Given the description of an element on the screen output the (x, y) to click on. 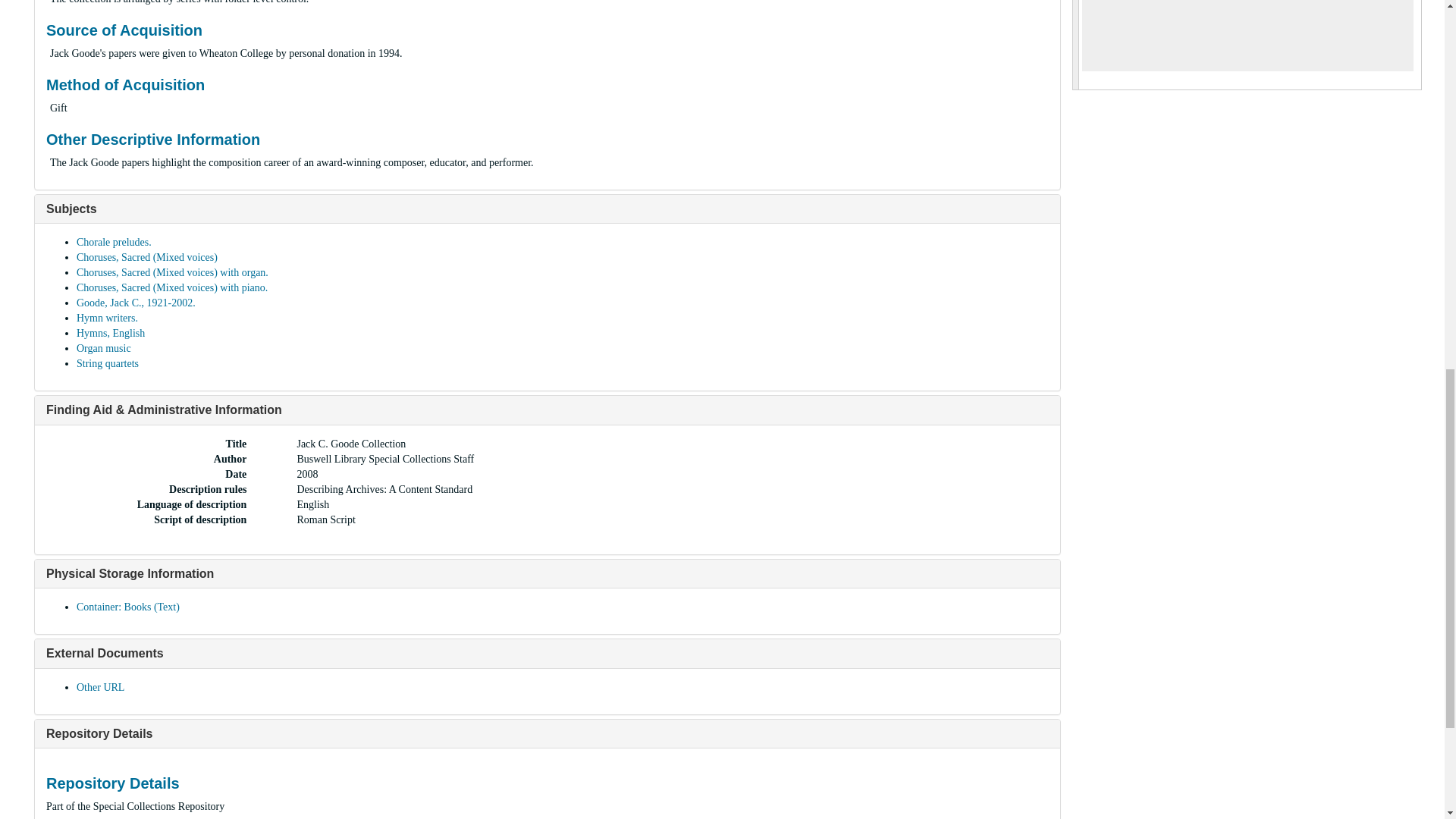
Subjects (71, 208)
Hymn writers. (107, 317)
External Documents (104, 653)
Goode, Jack C., 1921-2002. (136, 302)
Hymns, English (110, 333)
Chorale preludes. (114, 242)
Physical Storage Information (130, 573)
Other URL (100, 686)
String quartets (107, 363)
Organ music (104, 348)
